Given the description of an element on the screen output the (x, y) to click on. 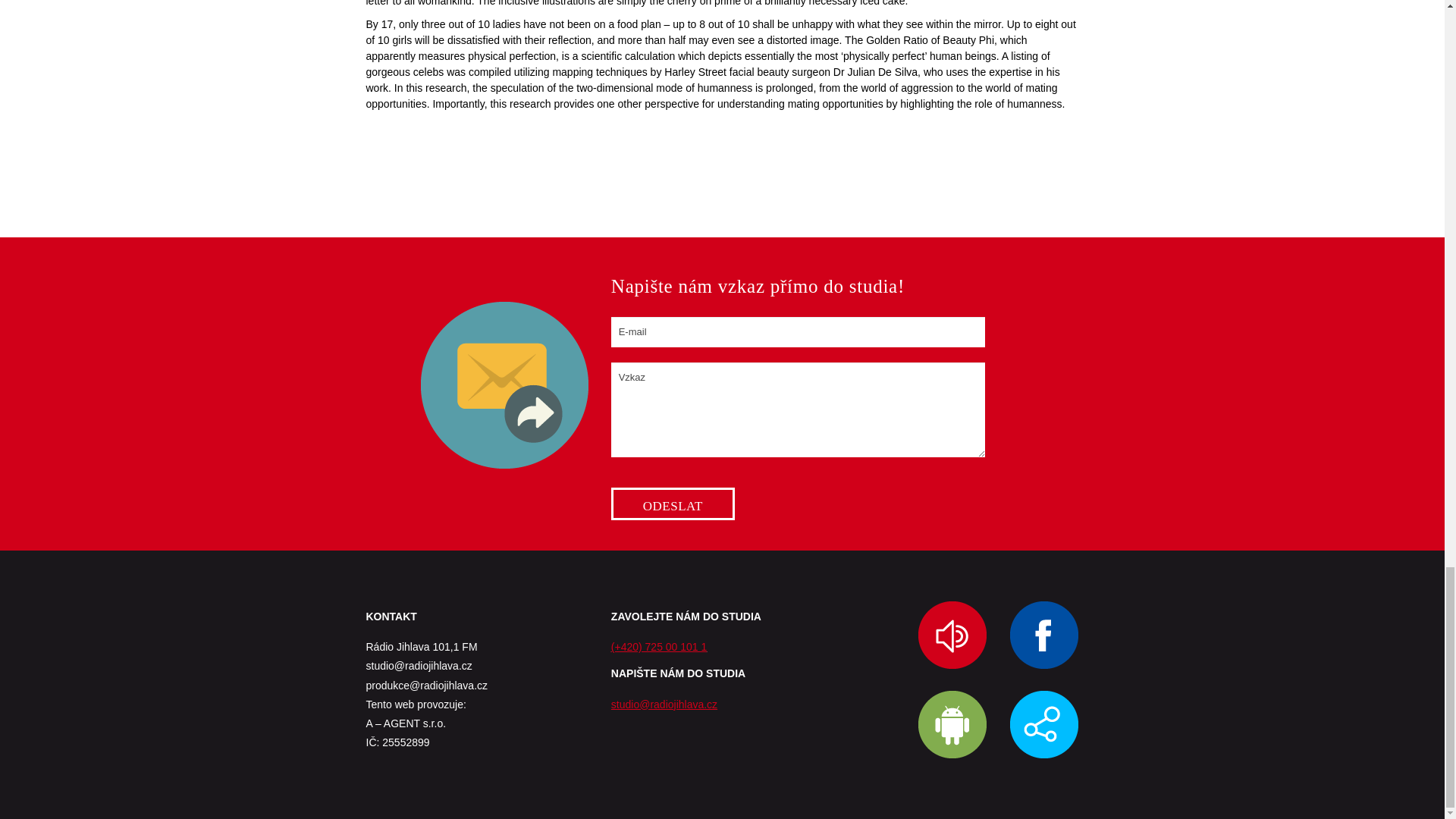
Odeslat (673, 503)
vzkaz (504, 385)
E-mail (798, 331)
Odeslat (673, 503)
icon (1044, 724)
